Given the description of an element on the screen output the (x, y) to click on. 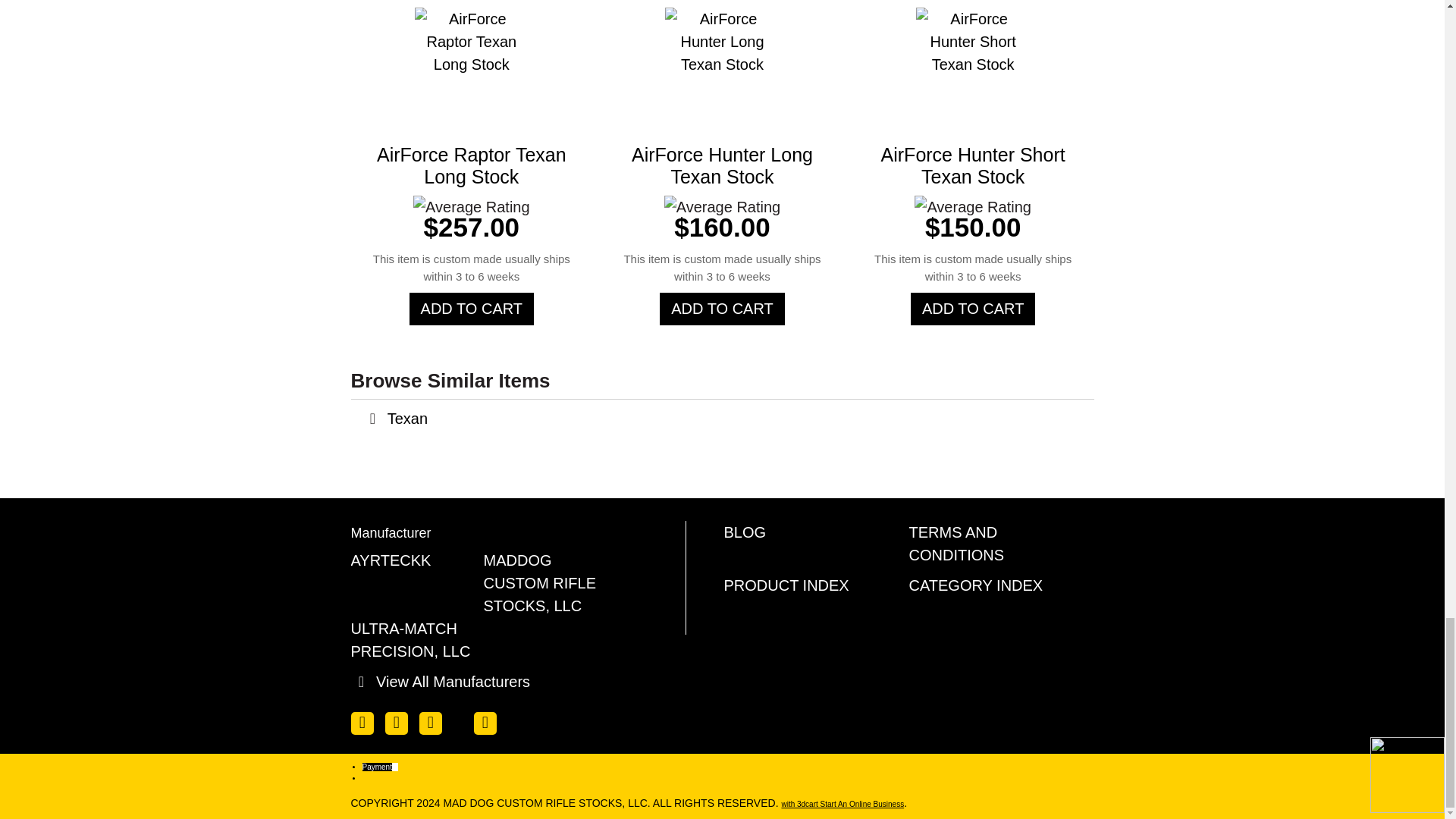
Add To Cart (973, 308)
Follow Us on Pinterest (461, 719)
Add To Cart (471, 308)
Follow Us on Instagram (484, 722)
Follow Us on Twitter (396, 722)
Like Us on Facebook (361, 722)
Subscribe to Our Channel (430, 722)
Add To Cart (721, 308)
